Given the description of an element on the screen output the (x, y) to click on. 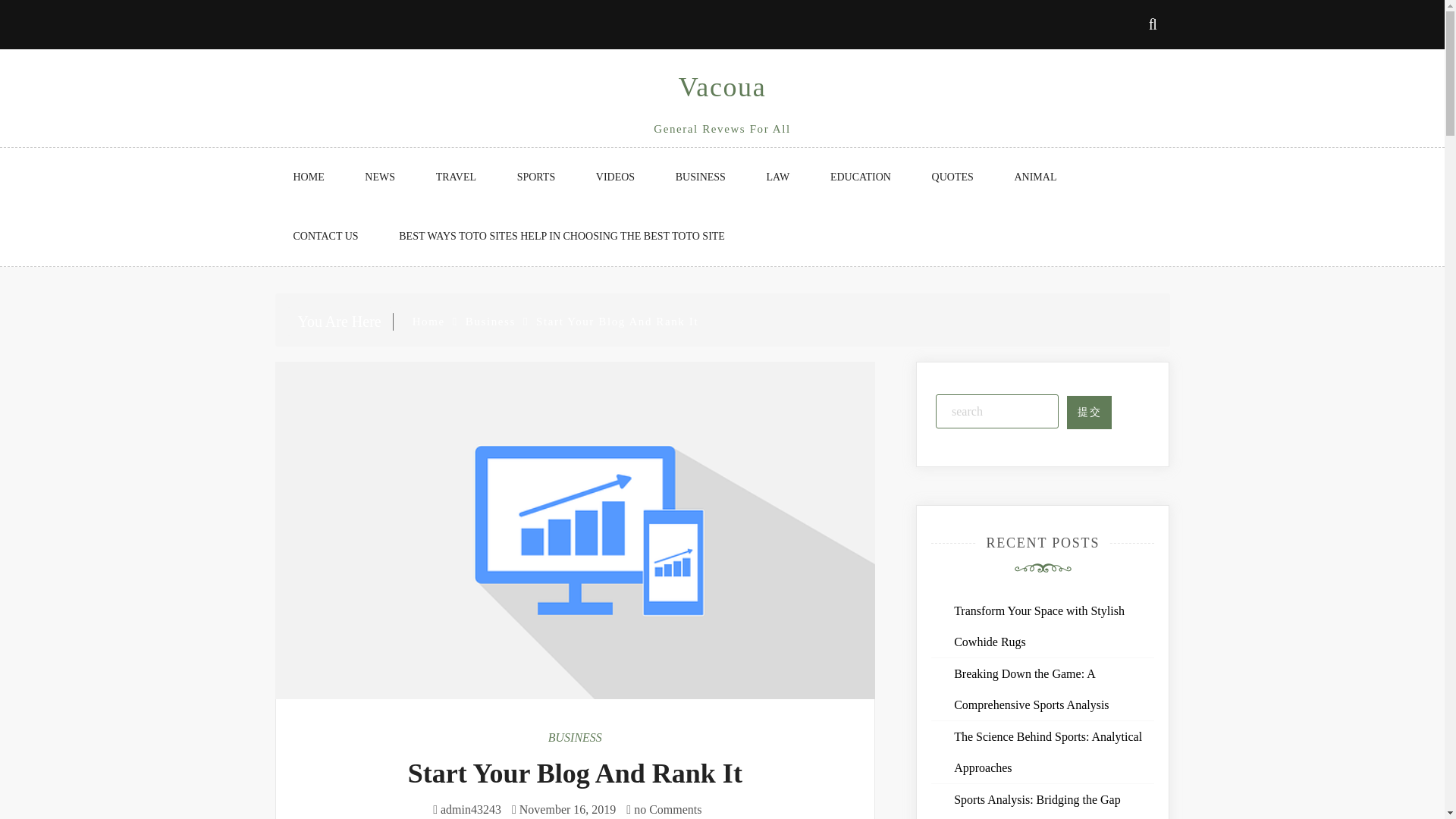
SPORTS (536, 177)
EDUCATION (860, 177)
Posts by admin43243 (470, 809)
Transform Your Space with Stylish Cowhide Rugs (1038, 626)
admin43243 (470, 809)
ANIMAL (1034, 177)
LAW (778, 177)
NEWS (379, 177)
November 16, 2019 (567, 809)
Start Your Blog And Rank It (574, 773)
Home (428, 321)
BUSINESS (701, 177)
The Science Behind Sports: Analytical Approaches (1047, 751)
Breaking Down the Game: A Comprehensive Sports Analysis (1030, 689)
